Given the description of an element on the screen output the (x, y) to click on. 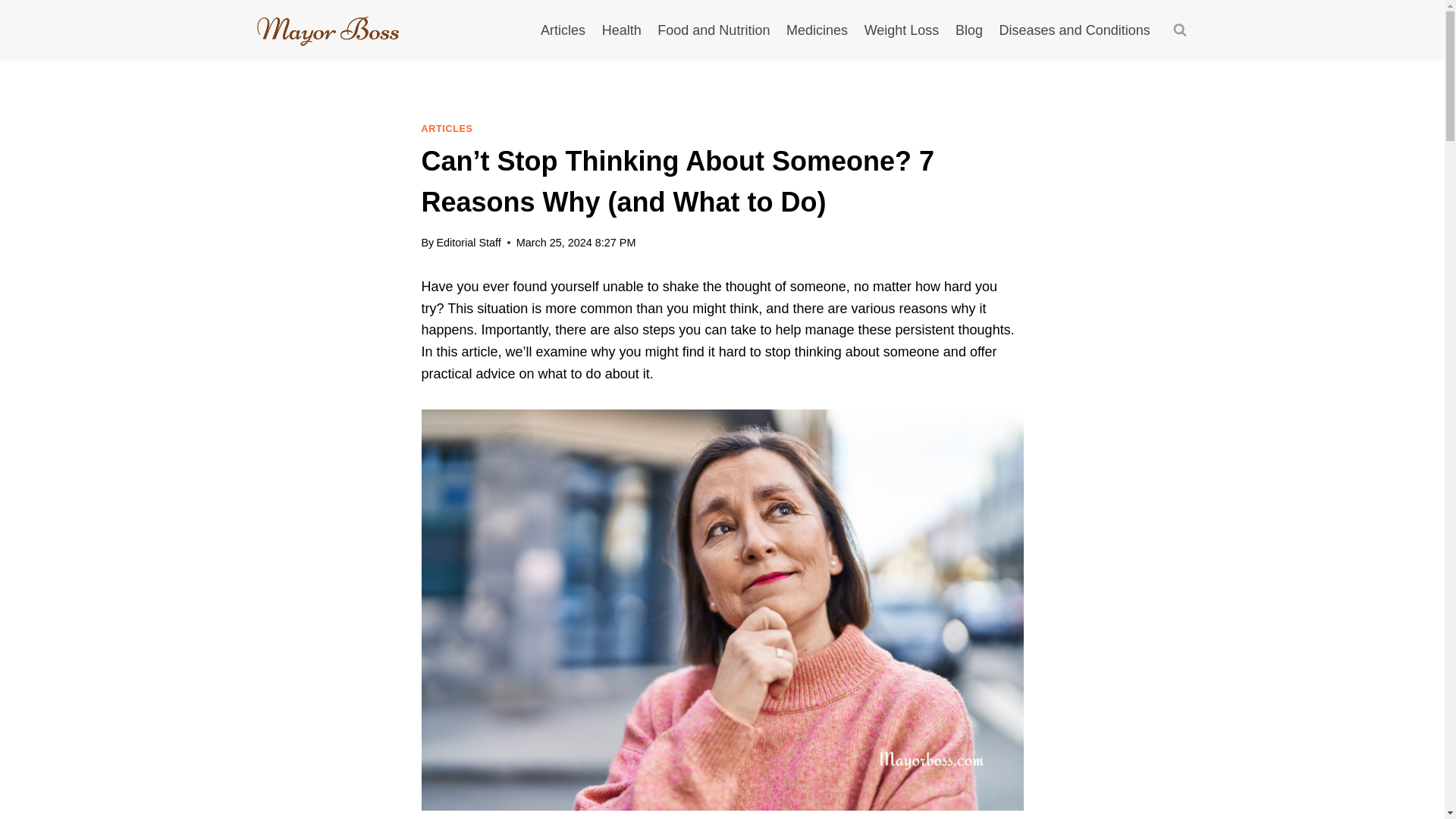
ARTICLES (447, 128)
Editorial Staff (467, 242)
Weight Loss (901, 30)
Food and Nutrition (713, 30)
Diseases and Conditions (1074, 30)
Articles (563, 30)
Health (621, 30)
Blog (969, 30)
Medicines (816, 30)
